Given the description of an element on the screen output the (x, y) to click on. 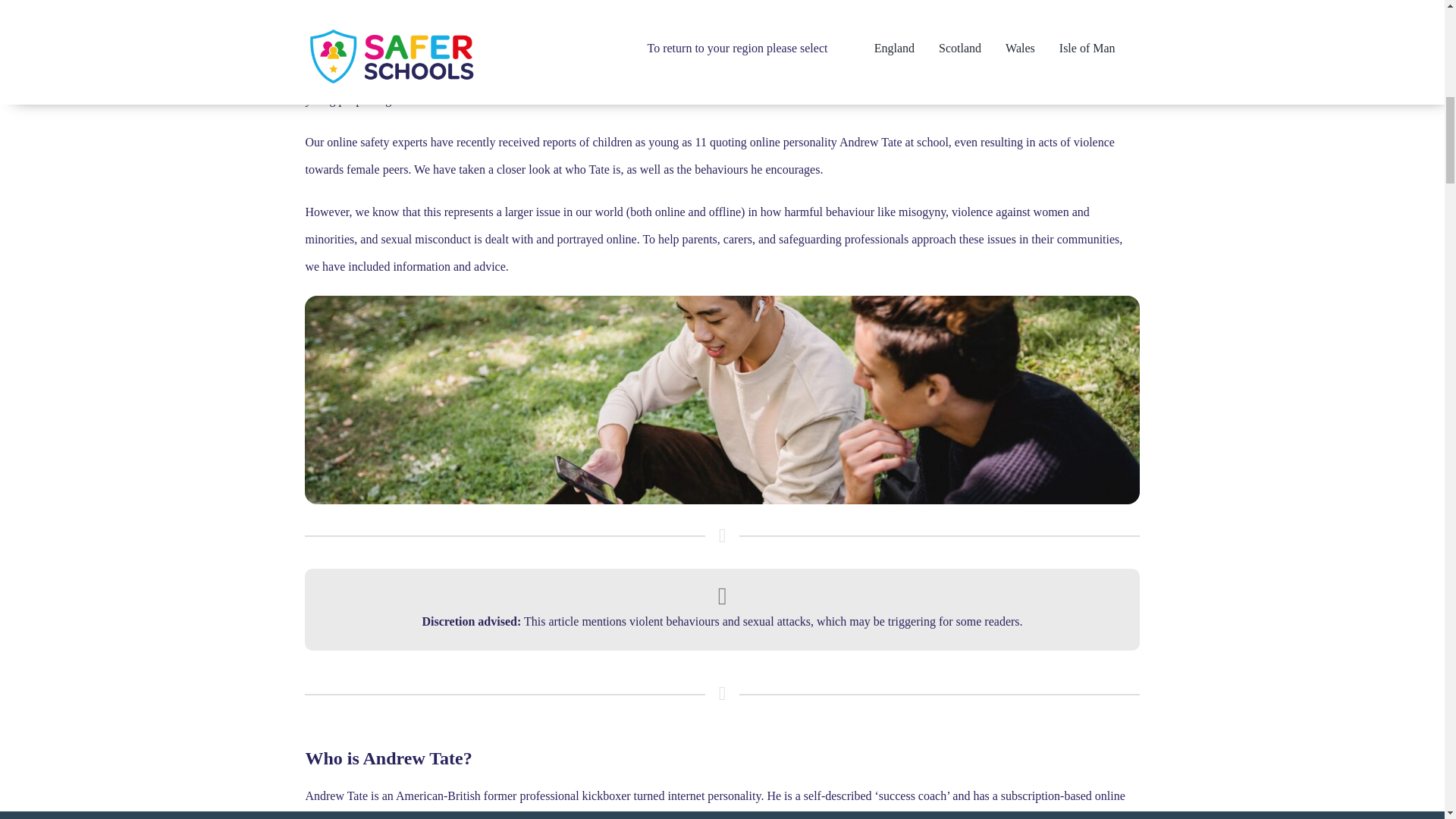
DOWNLOAD RESOURCE (721, 8)
